Given the description of an element on the screen output the (x, y) to click on. 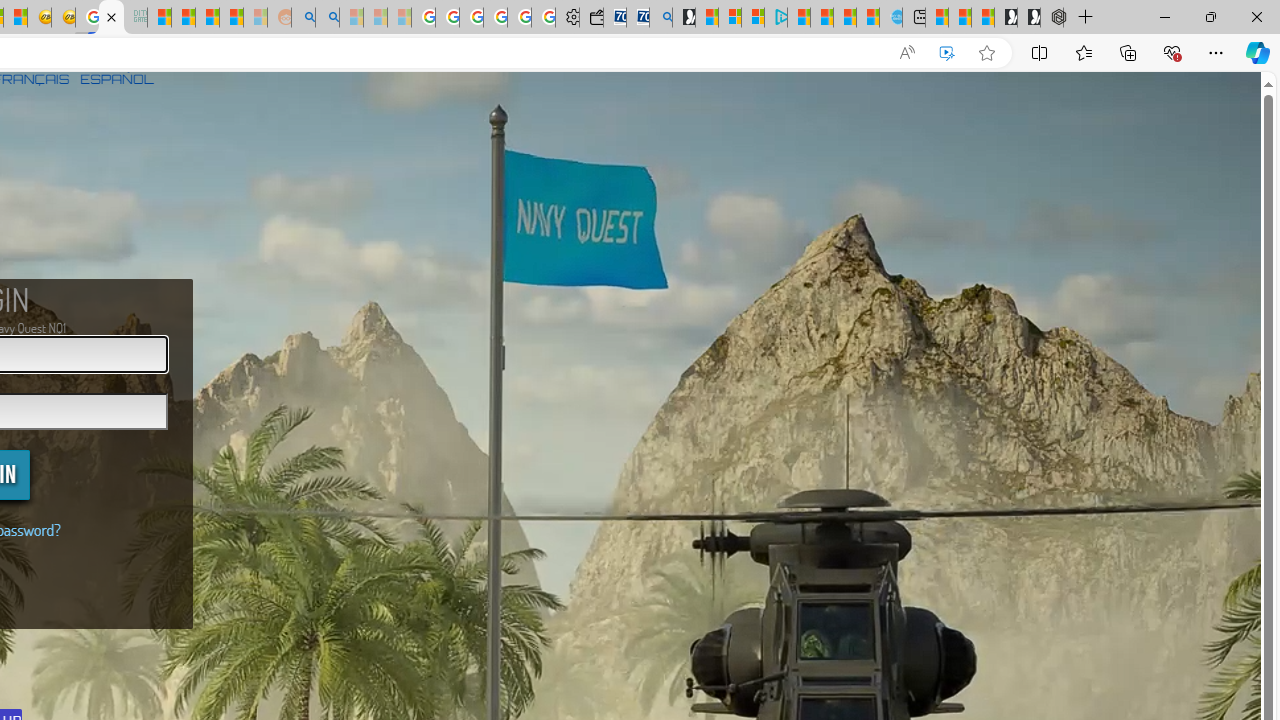
Bing Real Estate - Home sales and rental listings (660, 17)
